Given the description of an element on the screen output the (x, y) to click on. 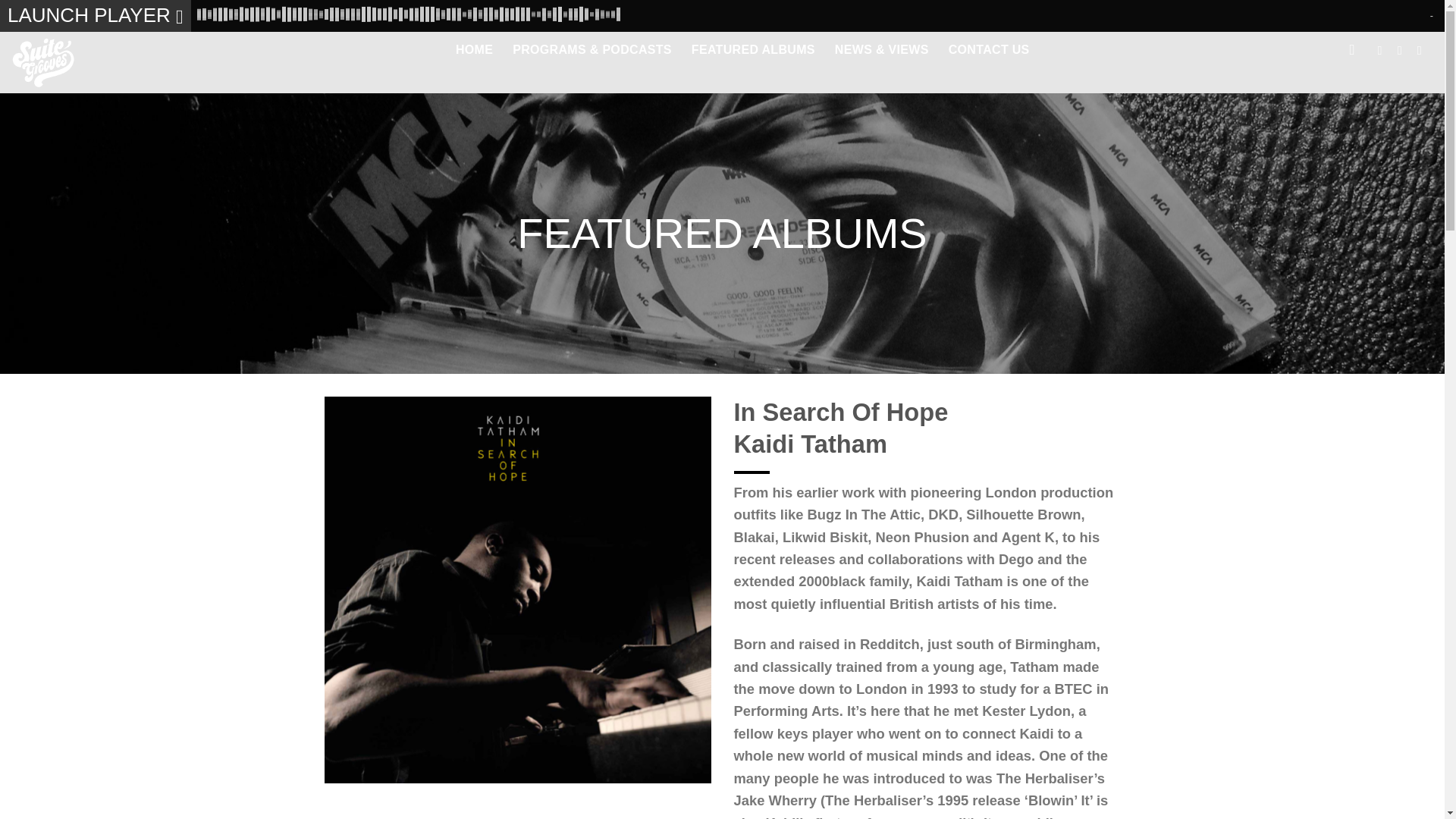
Suite Grooves (62, 62)
HOME (474, 49)
LAUNCH PLAYER (95, 15)
FEATURED ALBUMS (753, 49)
CONTACT US (989, 49)
